Given the description of an element on the screen output the (x, y) to click on. 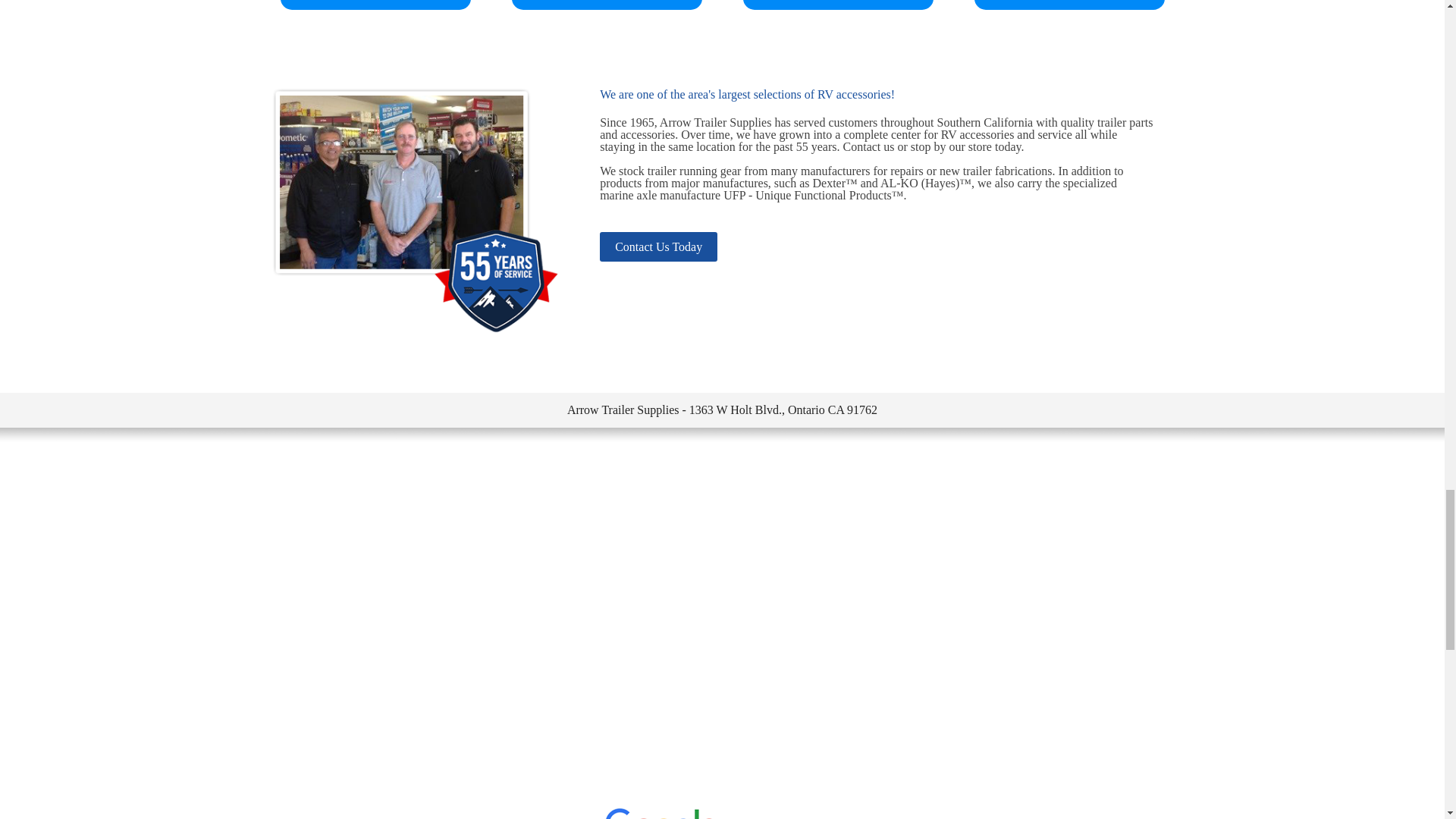
Axles (606, 4)
Water Pumps (837, 4)
Repair Service (1068, 4)
Contact Us Today (658, 246)
Tires (375, 4)
